Given the description of an element on the screen output the (x, y) to click on. 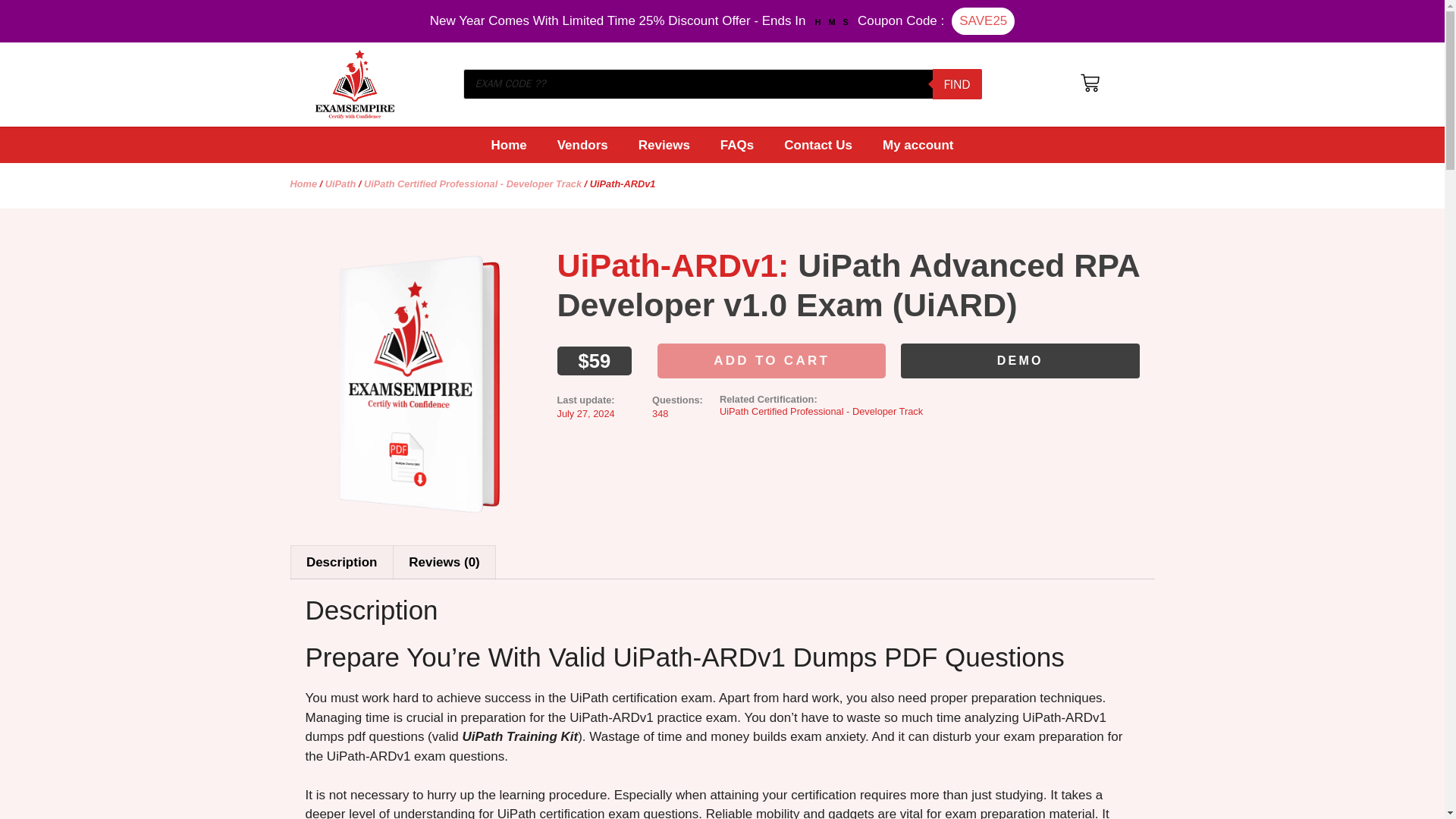
Vendors (582, 144)
My account (918, 144)
Description (342, 562)
Reviews (663, 144)
ADD TO CART (771, 361)
FIND (957, 83)
Home (303, 183)
Home (508, 144)
UiPath Certified Professional - Developer Track (472, 183)
Contact Us (817, 144)
UiPath (340, 183)
DEMO (1020, 360)
FAQs (736, 144)
